Given the description of an element on the screen output the (x, y) to click on. 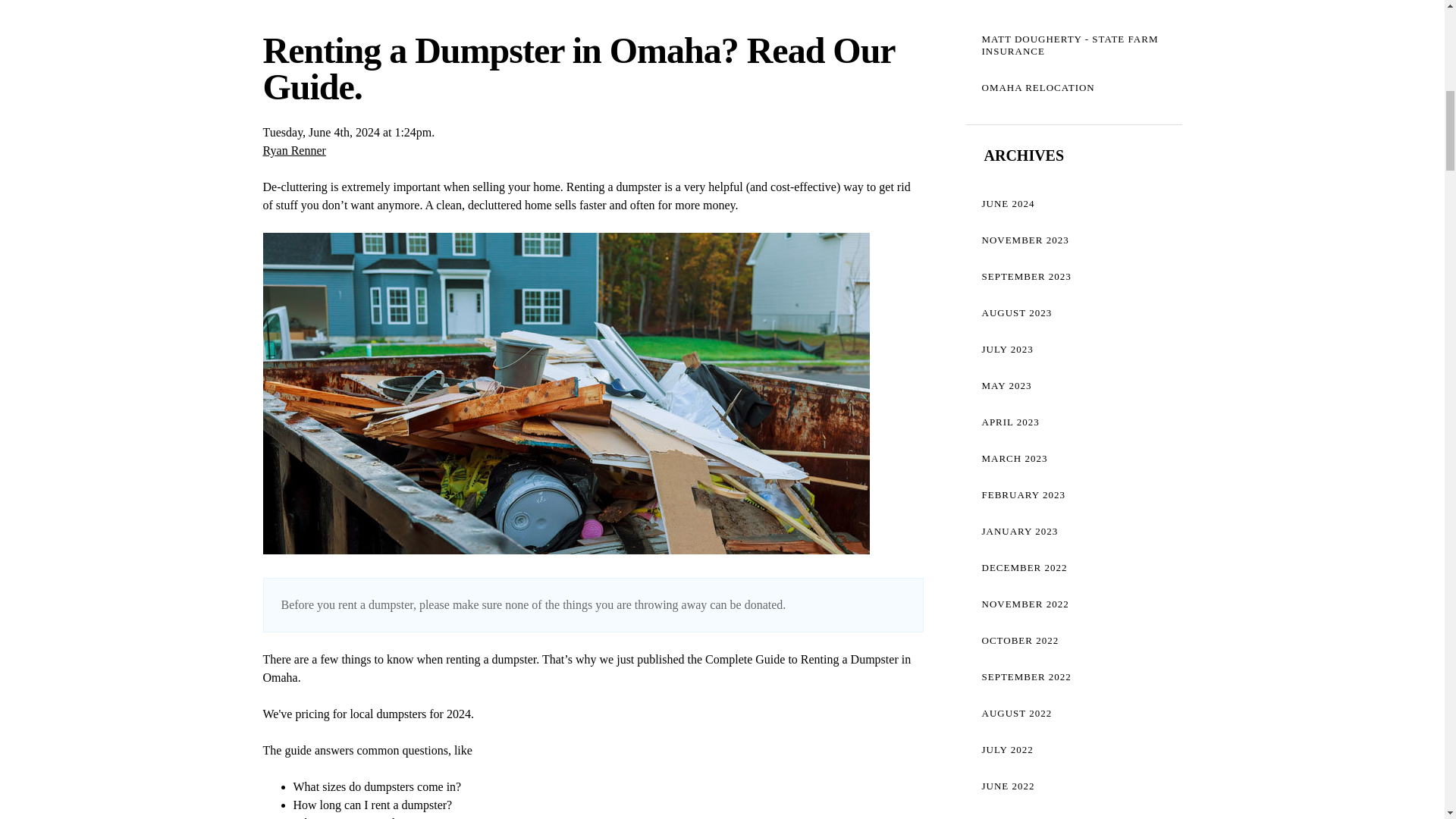
Ryan Renner (293, 150)
Renting a Dumpster in Omaha? Read Our Guide. (577, 68)
